Given the description of an element on the screen output the (x, y) to click on. 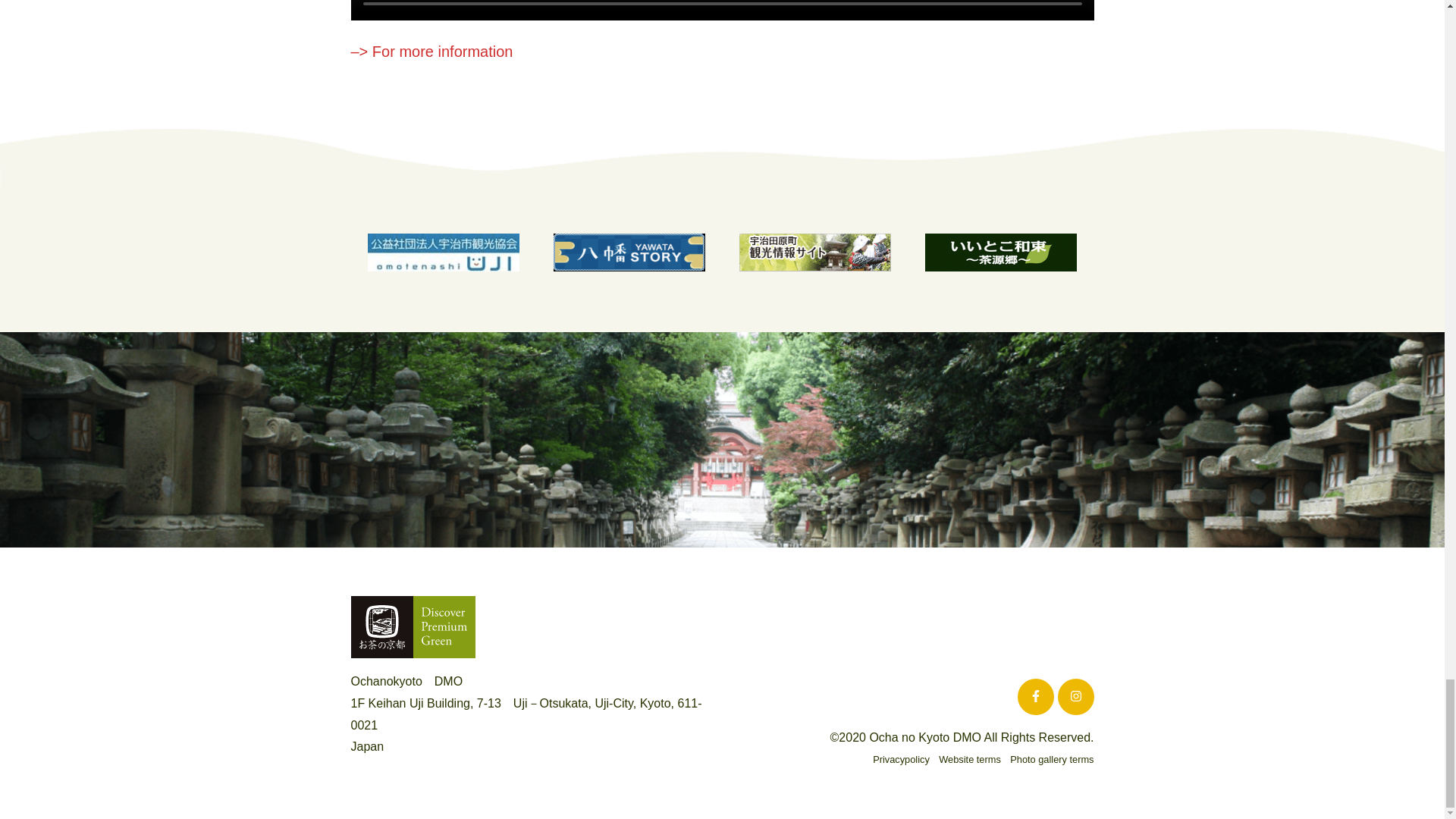
Website terms (970, 758)
Privacypolicy (901, 758)
Photo gallery terms (1051, 758)
